Given the description of an element on the screen output the (x, y) to click on. 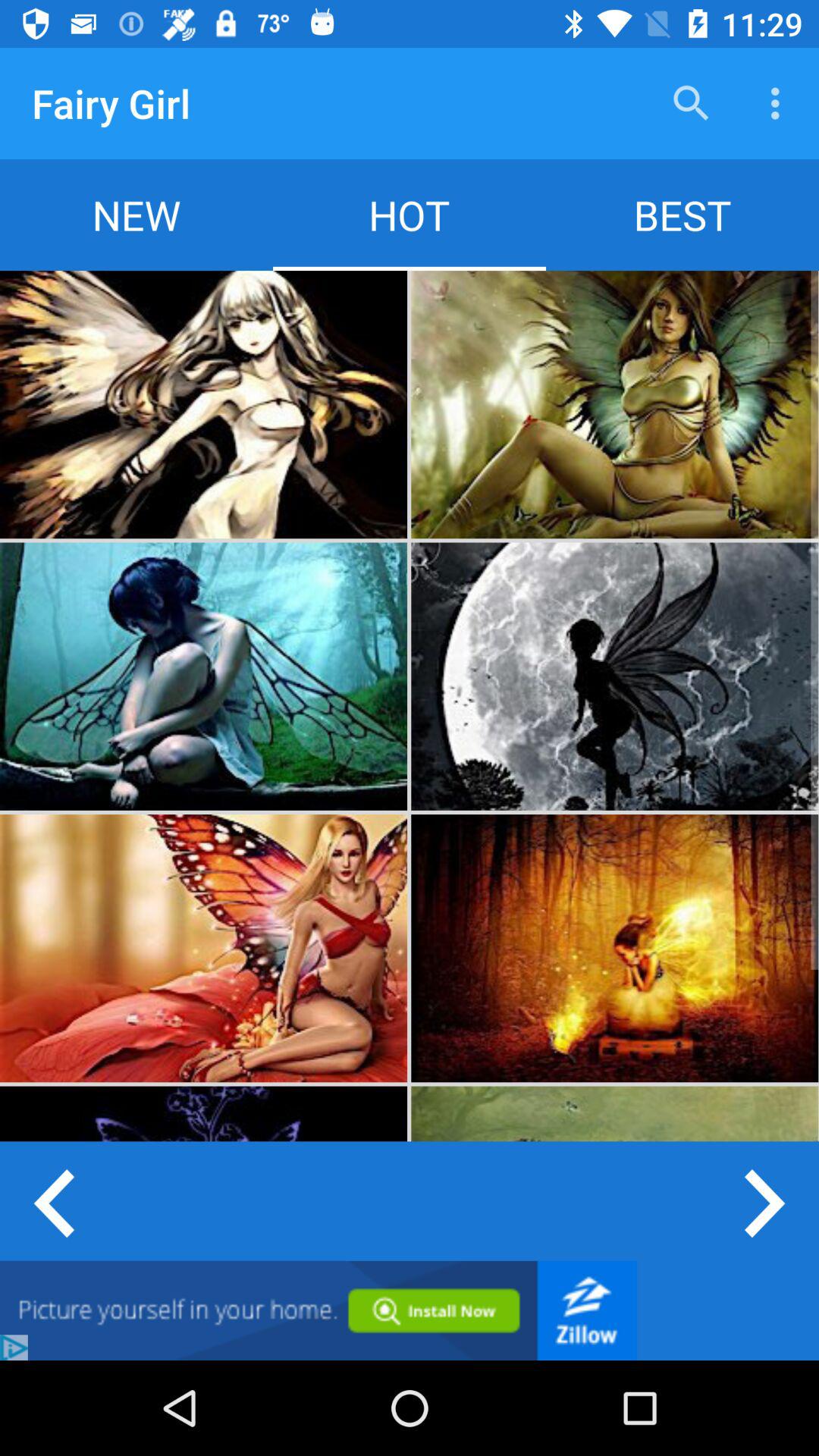
click the icon next to the fairy girl (691, 103)
